Given the description of an element on the screen output the (x, y) to click on. 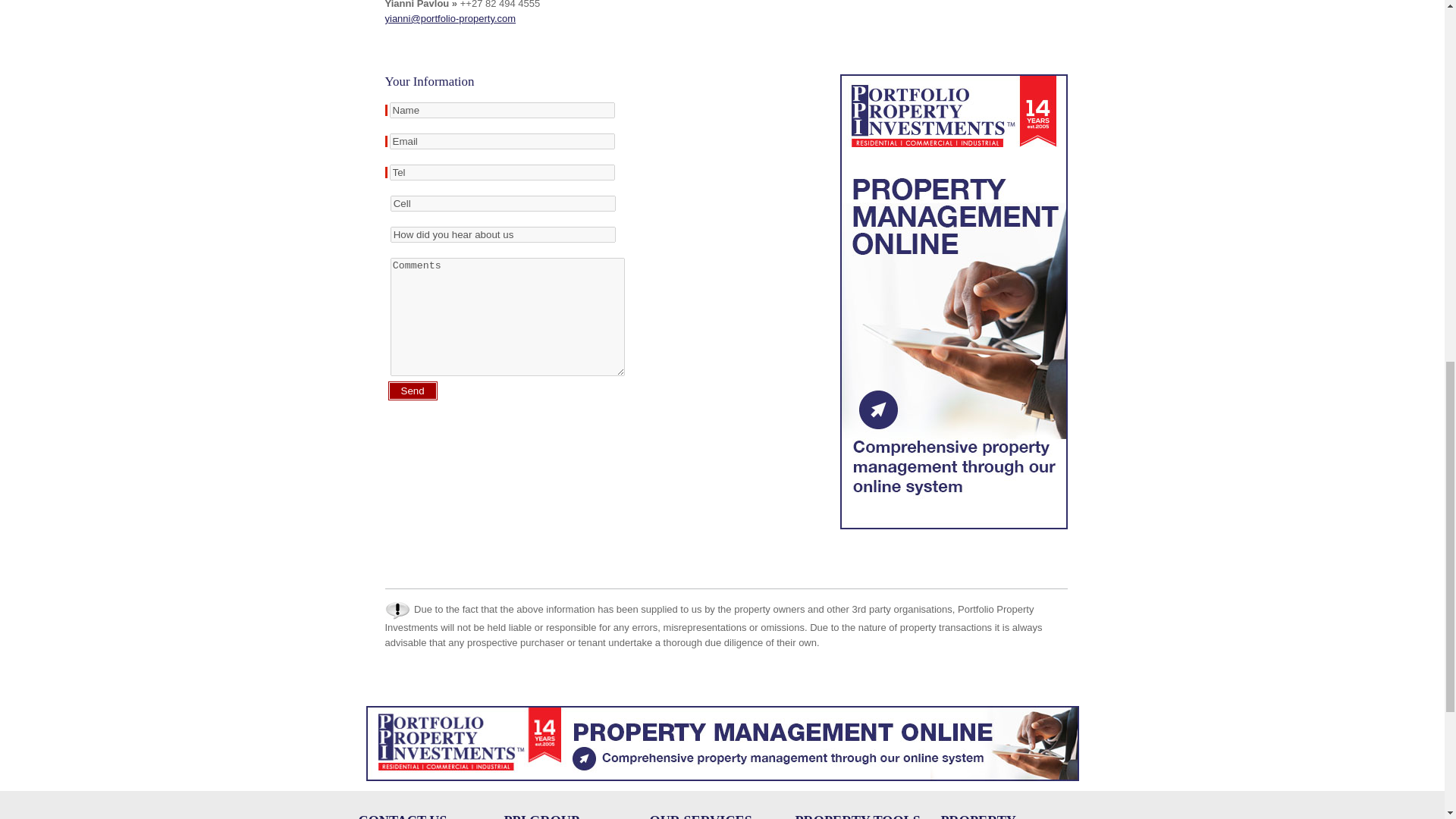
Tel (502, 172)
Cell (502, 203)
Property Management (721, 785)
Email (502, 141)
How did you hear about us (502, 234)
Name (502, 109)
Property Management (953, 532)
Send (412, 390)
